Given the description of an element on the screen output the (x, y) to click on. 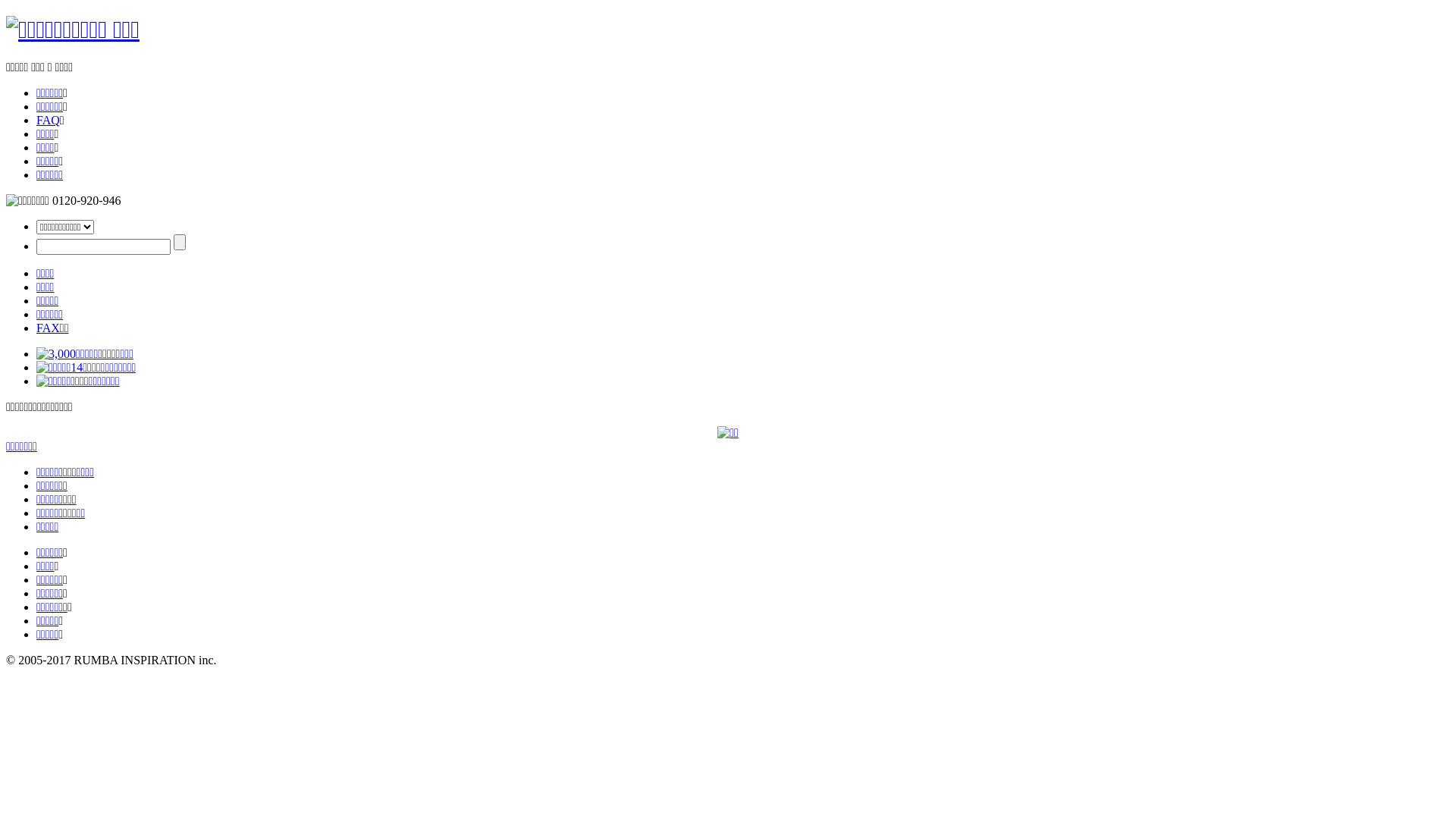
FAQ Element type: text (47, 119)
